Given the description of an element on the screen output the (x, y) to click on. 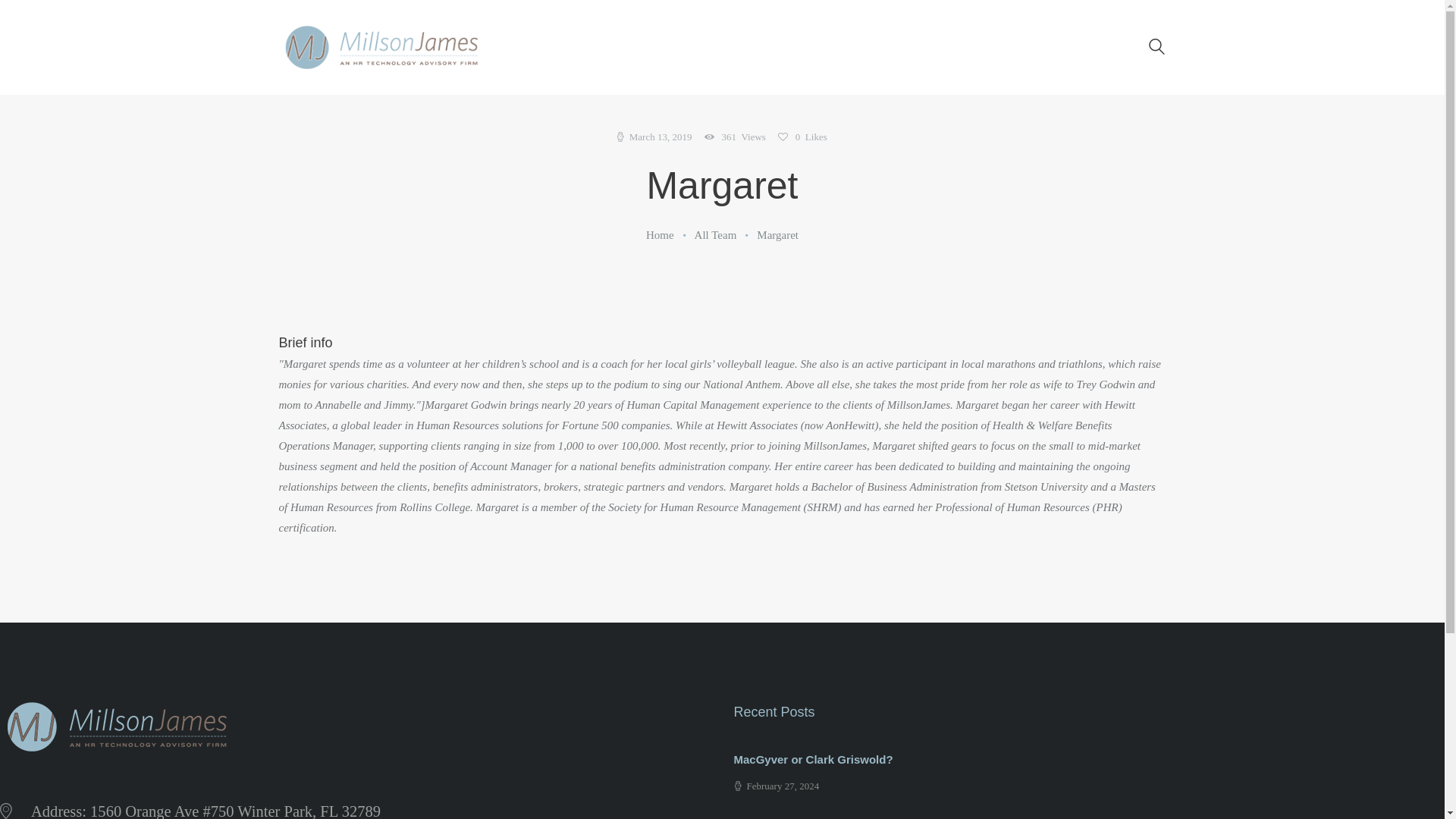
March 13, 2019 (654, 136)
Like (802, 136)
February 27, 2024 (776, 785)
Home (660, 235)
361Views (740, 136)
0Likes (802, 136)
All Team (715, 234)
